Given the description of an element on the screen output the (x, y) to click on. 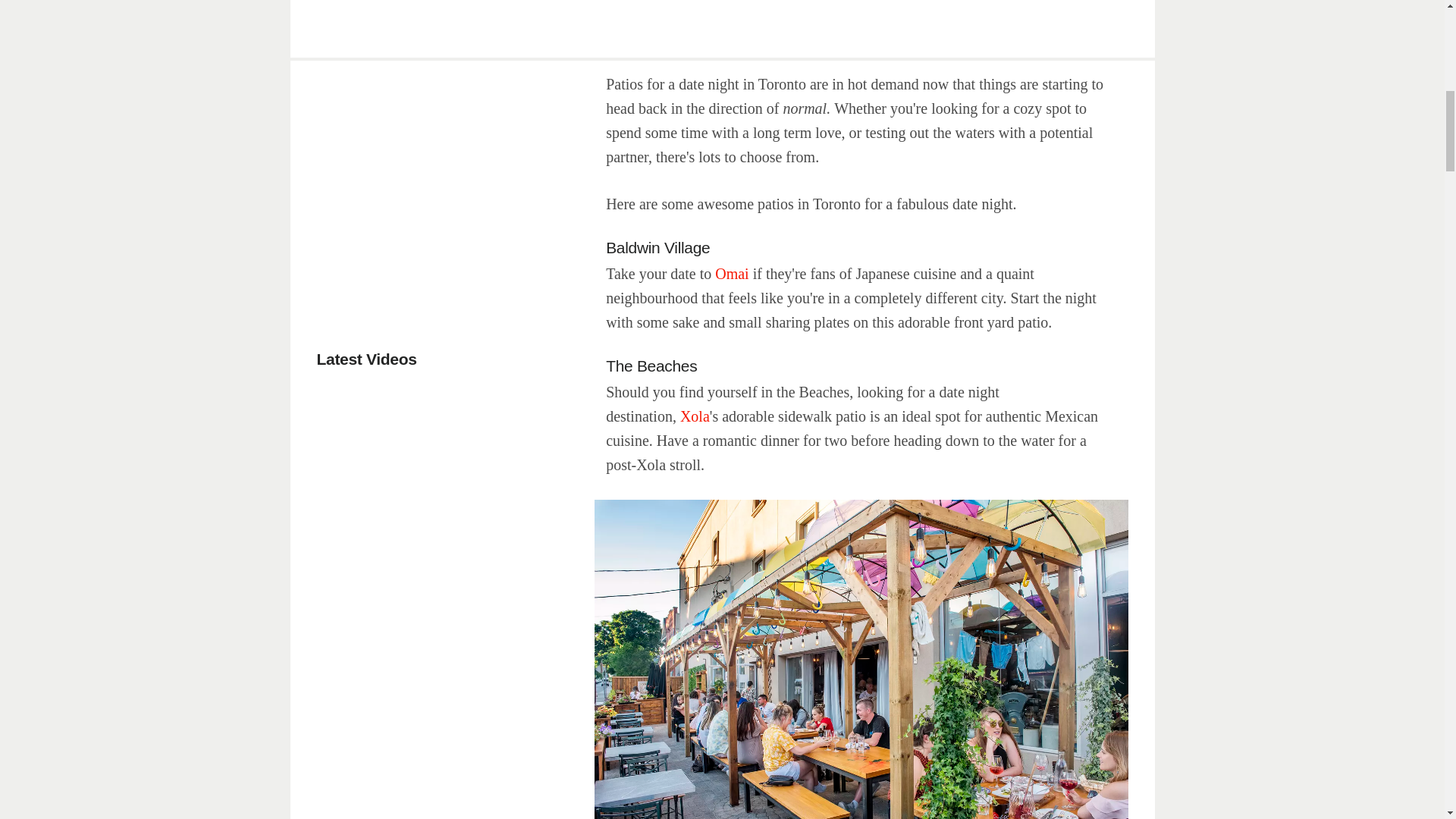
Xola (694, 416)
Omai (731, 273)
